Given the description of an element on the screen output the (x, y) to click on. 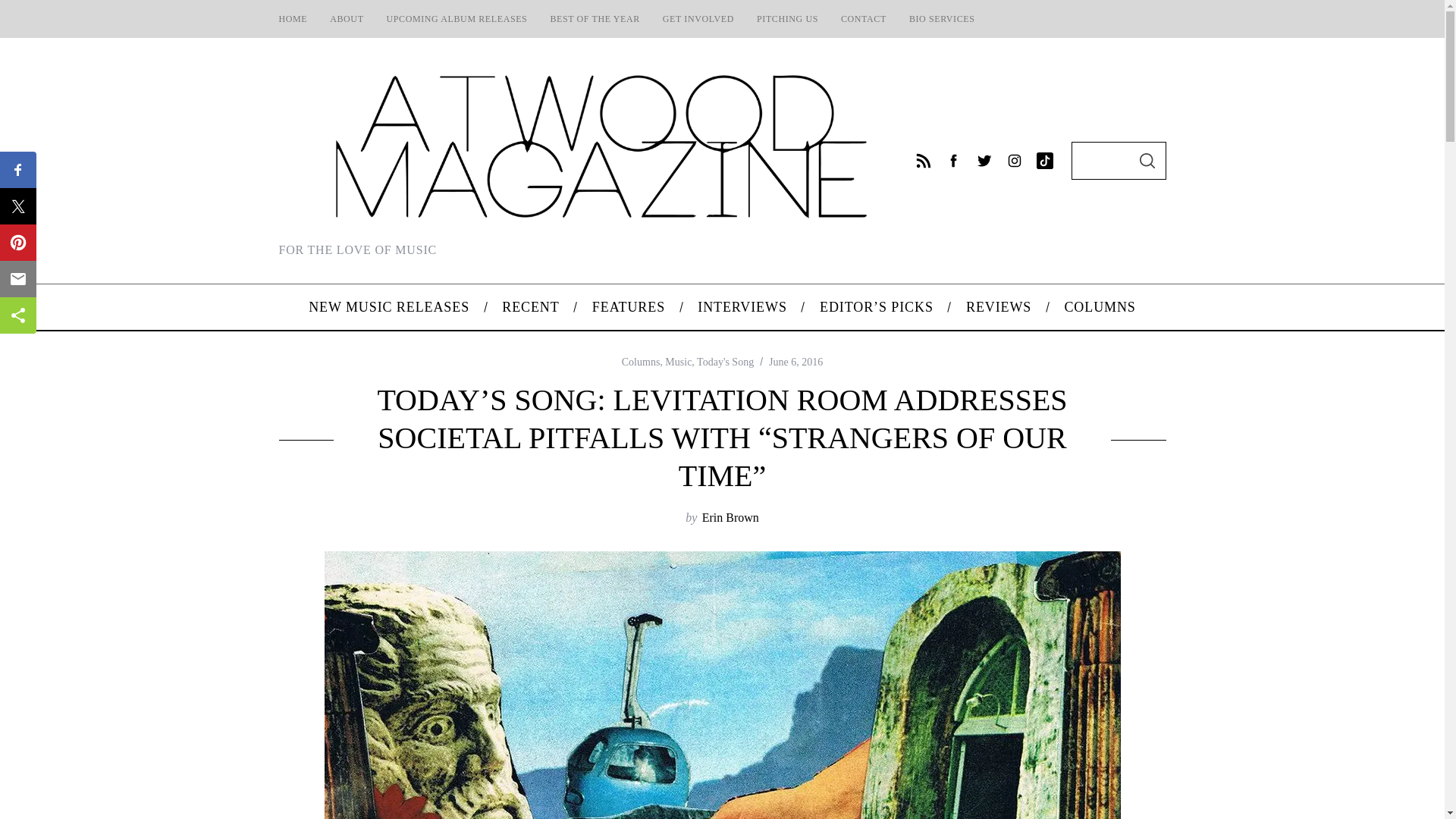
GET INVOLVED (697, 18)
CONTACT (863, 18)
Music (678, 361)
SEARCH (1147, 160)
Erin Brown (729, 517)
Celebrating the best music of 2023! (594, 18)
UPCOMING ALBUM RELEASES (456, 18)
NEW MUSIC RELEASES (389, 307)
Home (292, 18)
BIO SERVICES (942, 18)
COLUMNS (1100, 307)
REVIEWS (997, 307)
Today's Song (725, 361)
ABOUT (346, 18)
HOME (292, 18)
